Given the description of an element on the screen output the (x, y) to click on. 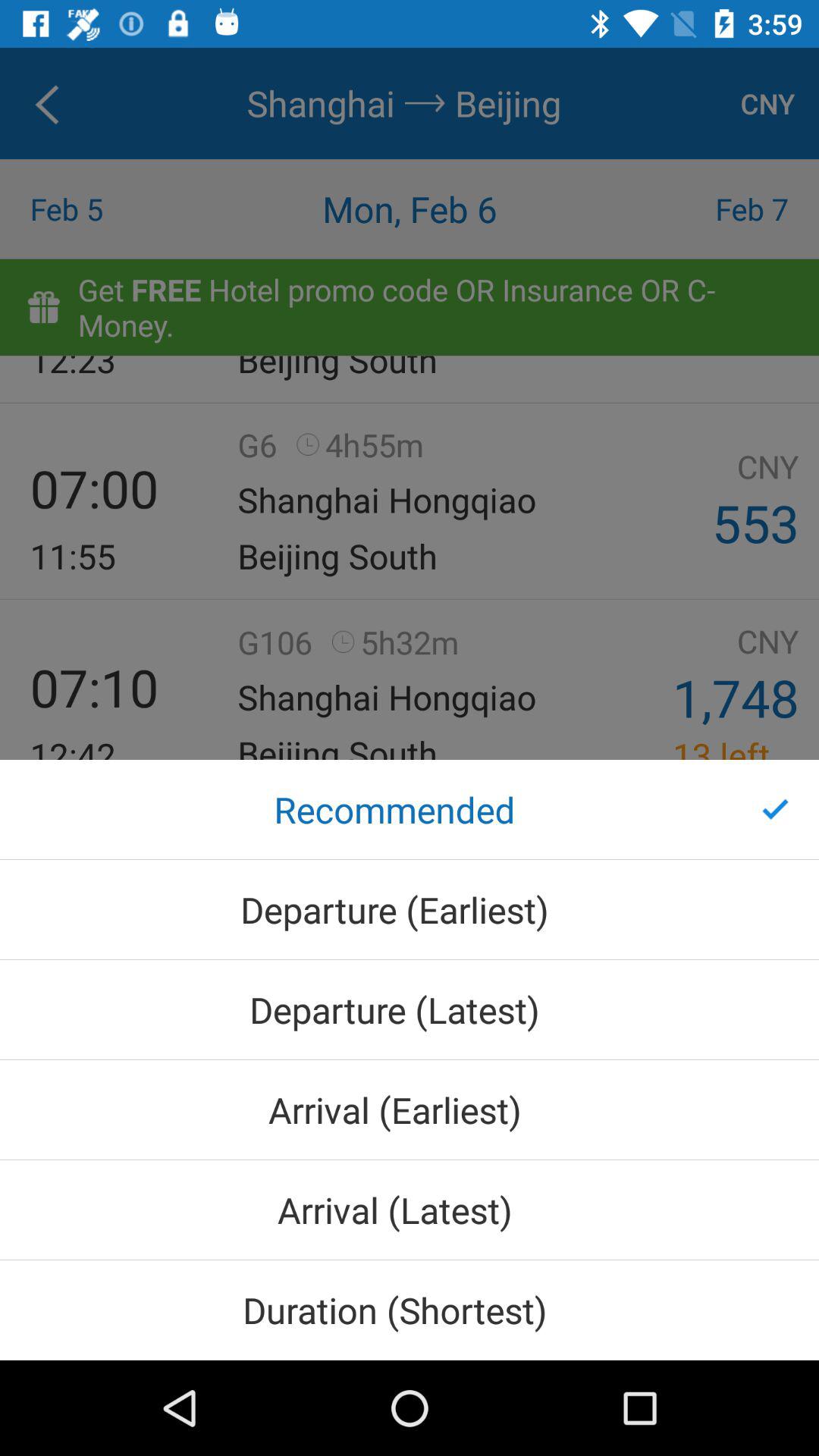
tap arrival (latest) icon (409, 1209)
